Given the description of an element on the screen output the (x, y) to click on. 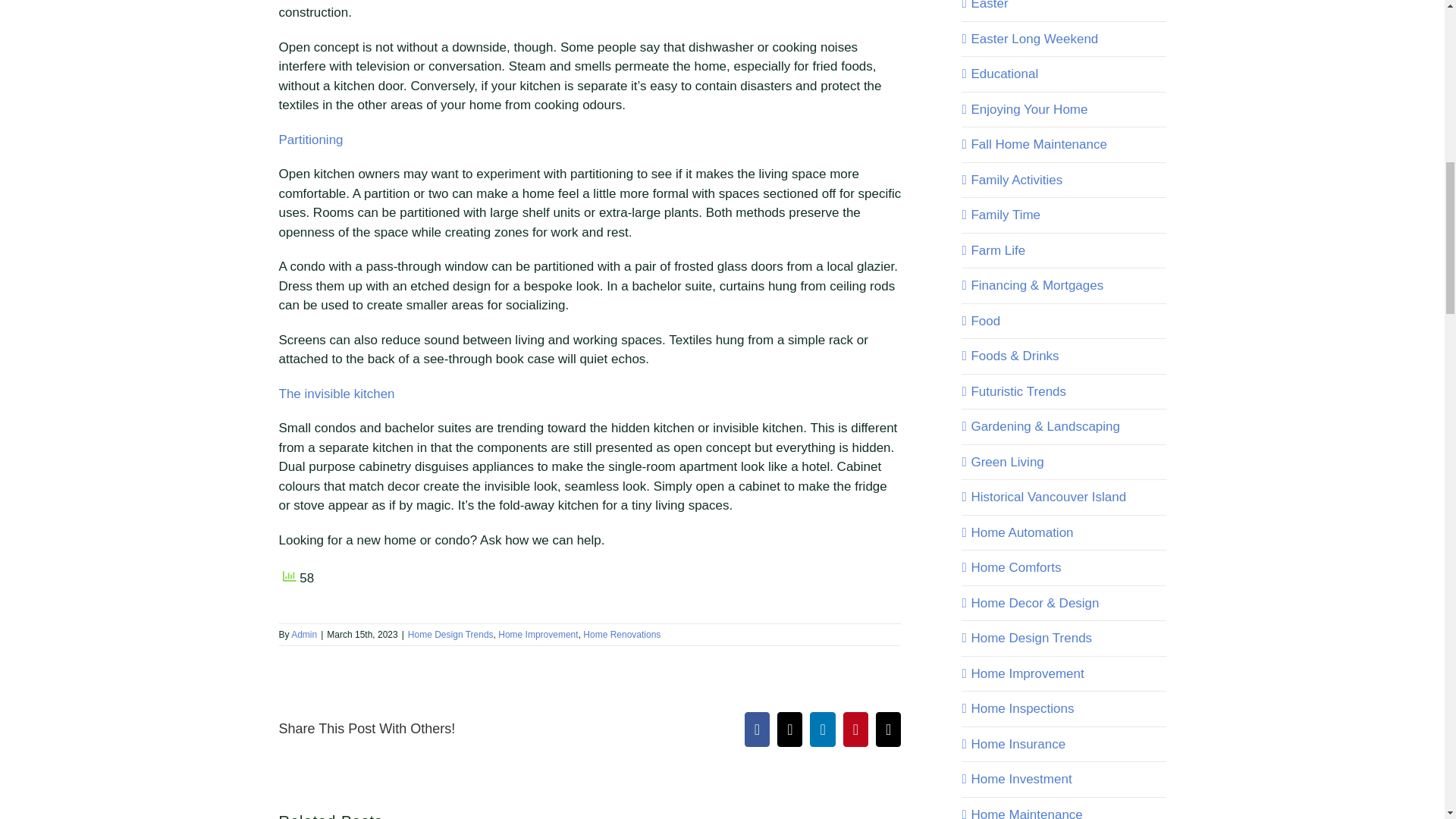
Partitioning (311, 139)
The invisible kitchen (336, 393)
Home Design Trends (450, 634)
Admin (304, 634)
Posts by Admin (304, 634)
Home Improvement (537, 634)
